Given the description of an element on the screen output the (x, y) to click on. 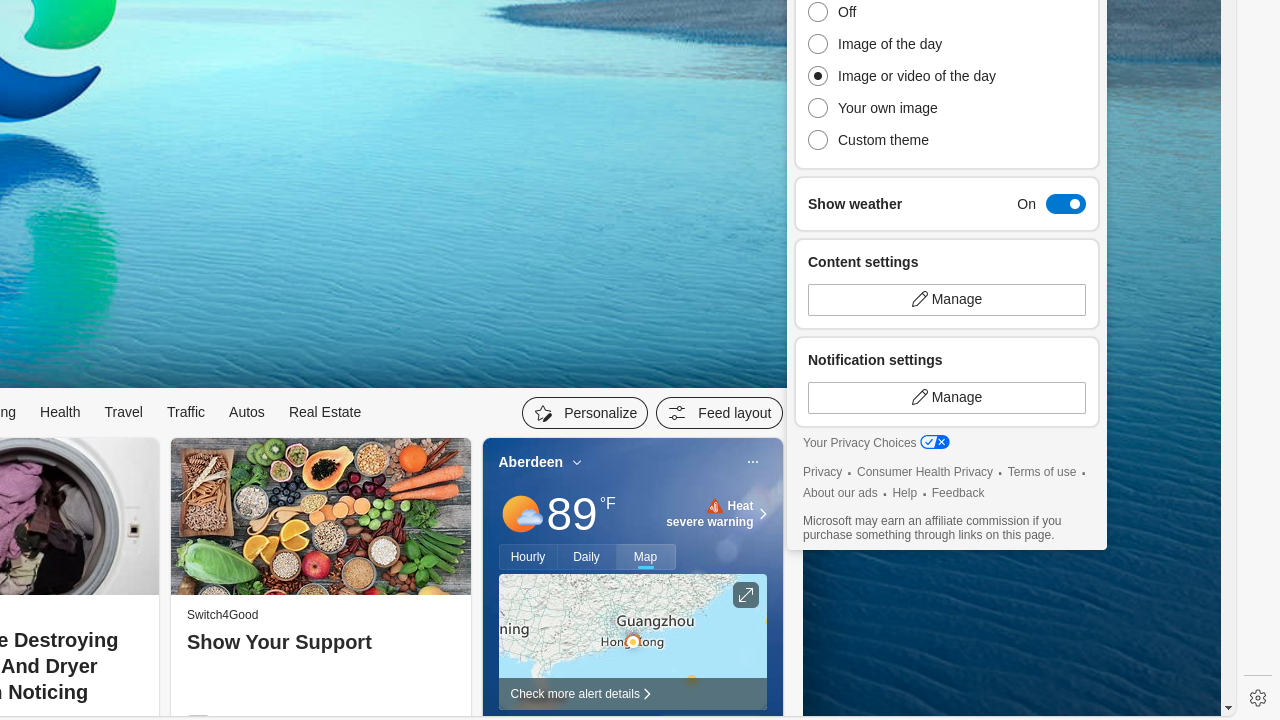
Travel Element type: link (123, 412)
Privacy Element type: link (823, 472)
Mostly sunny Element type: link (520, 514)
Image of the day Element type: radio-button (907, 44)
Autos Element type: link (247, 412)
